Given the description of an element on the screen output the (x, y) to click on. 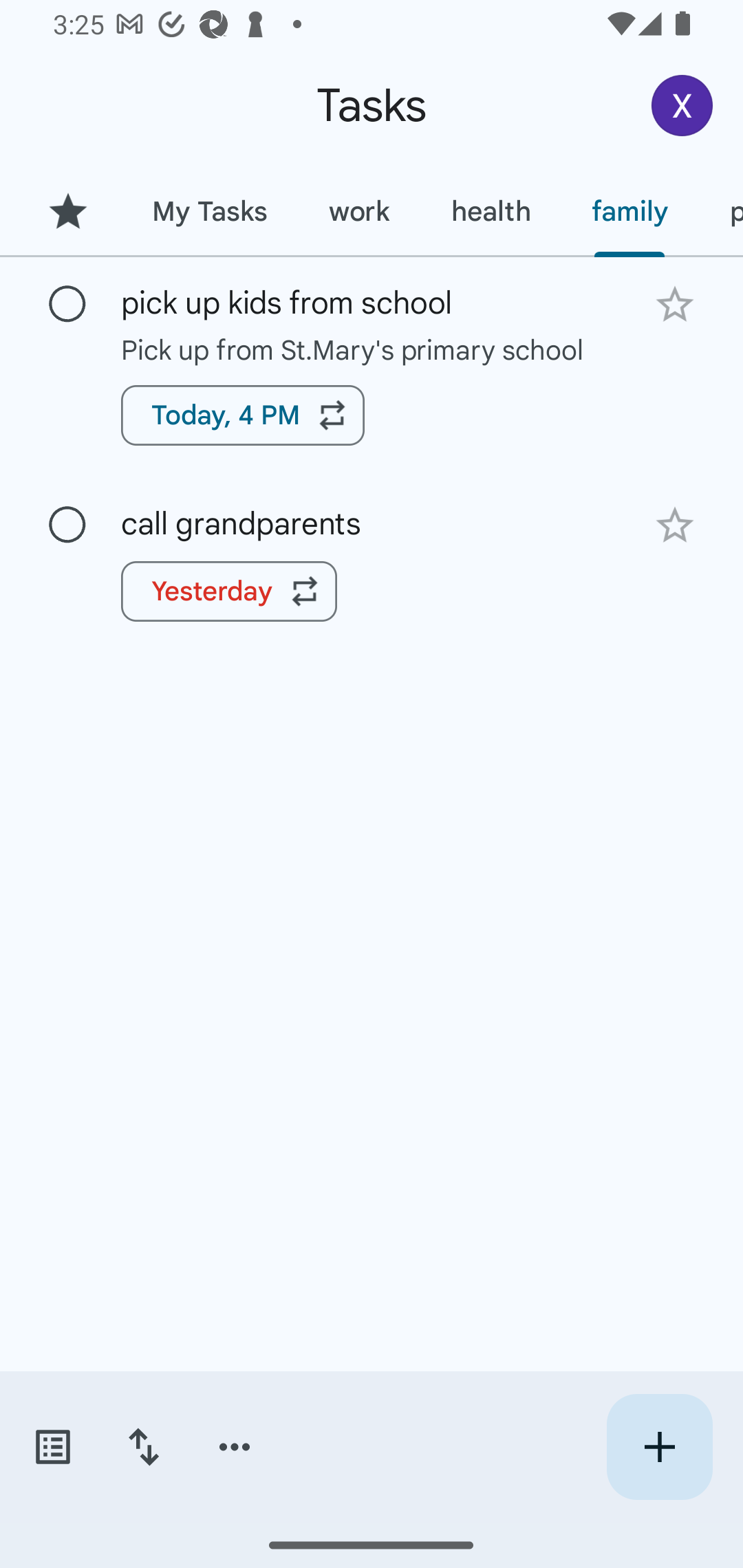
Starred (67, 211)
My Tasks (209, 211)
work (358, 211)
health (490, 211)
Add star (674, 303)
Mark as complete (67, 304)
Pick up from St.Mary's primary school (371, 349)
Today, 4 PM (242, 415)
Add star (674, 524)
Mark as complete (67, 525)
Yesterday (229, 590)
Switch task lists (52, 1447)
Create new task (659, 1446)
Change sort order (143, 1446)
More options (234, 1446)
